Given the description of an element on the screen output the (x, y) to click on. 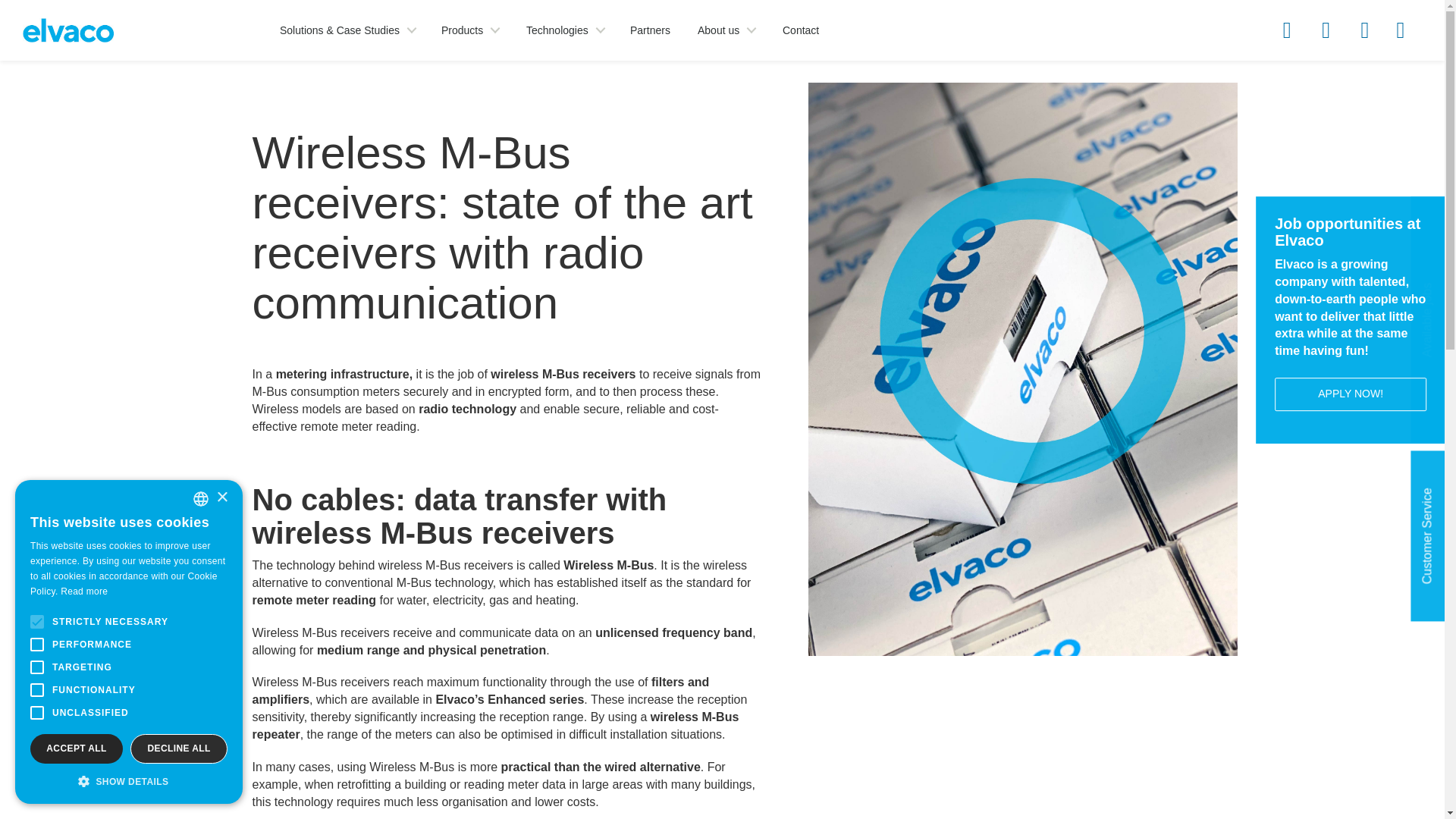
Contact (800, 30)
Technologies (564, 30)
About us (725, 30)
Partners (650, 30)
Products (469, 30)
